Given the description of an element on the screen output the (x, y) to click on. 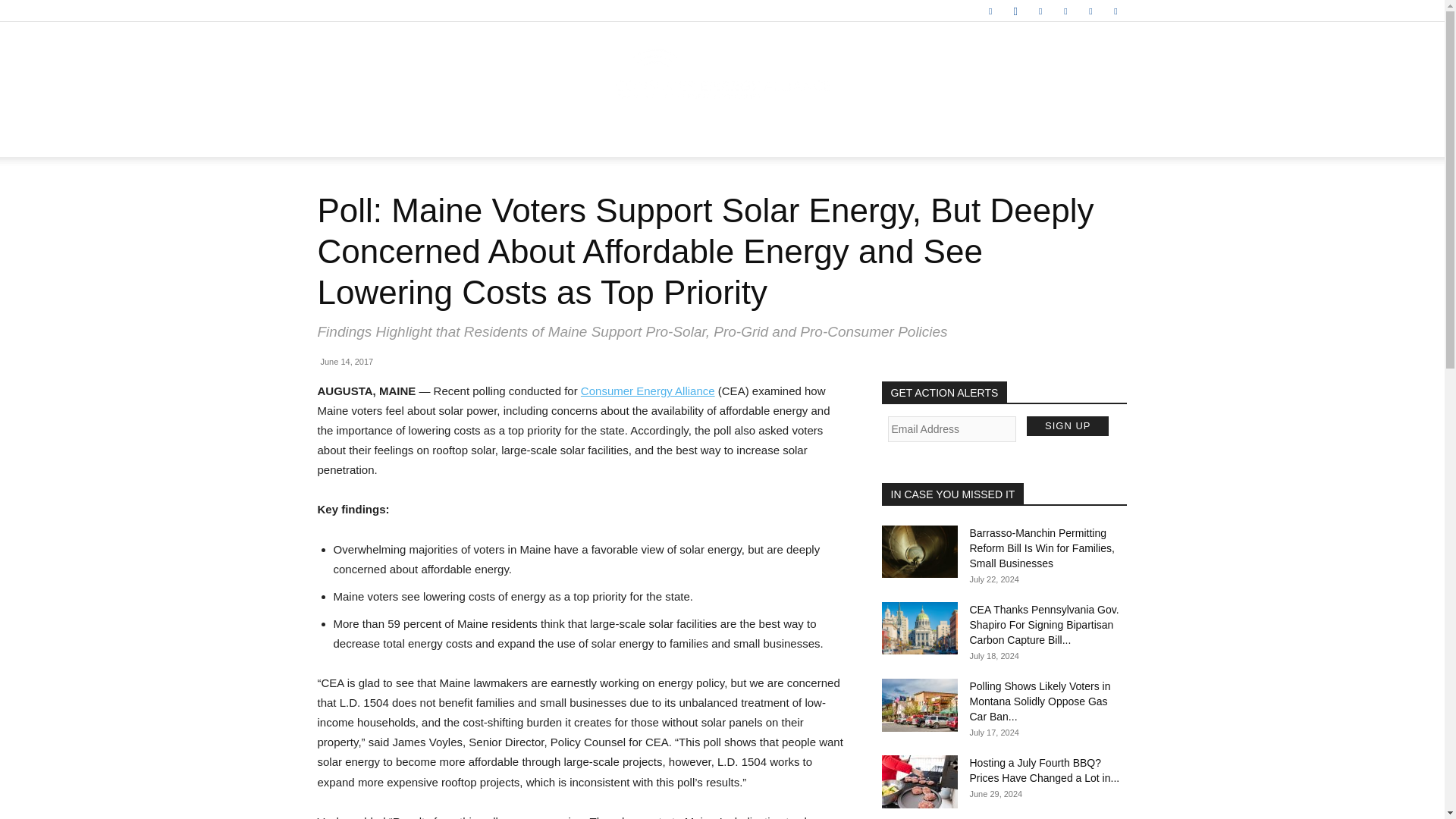
RSS (1065, 10)
Instagram (1015, 10)
SIGN UP (1067, 425)
Facebook (989, 10)
Twitter (1090, 10)
Youtube (1114, 10)
The leading national consumer advocate on energy issues. (721, 72)
Linkedin (1040, 10)
